Given the description of an element on the screen output the (x, y) to click on. 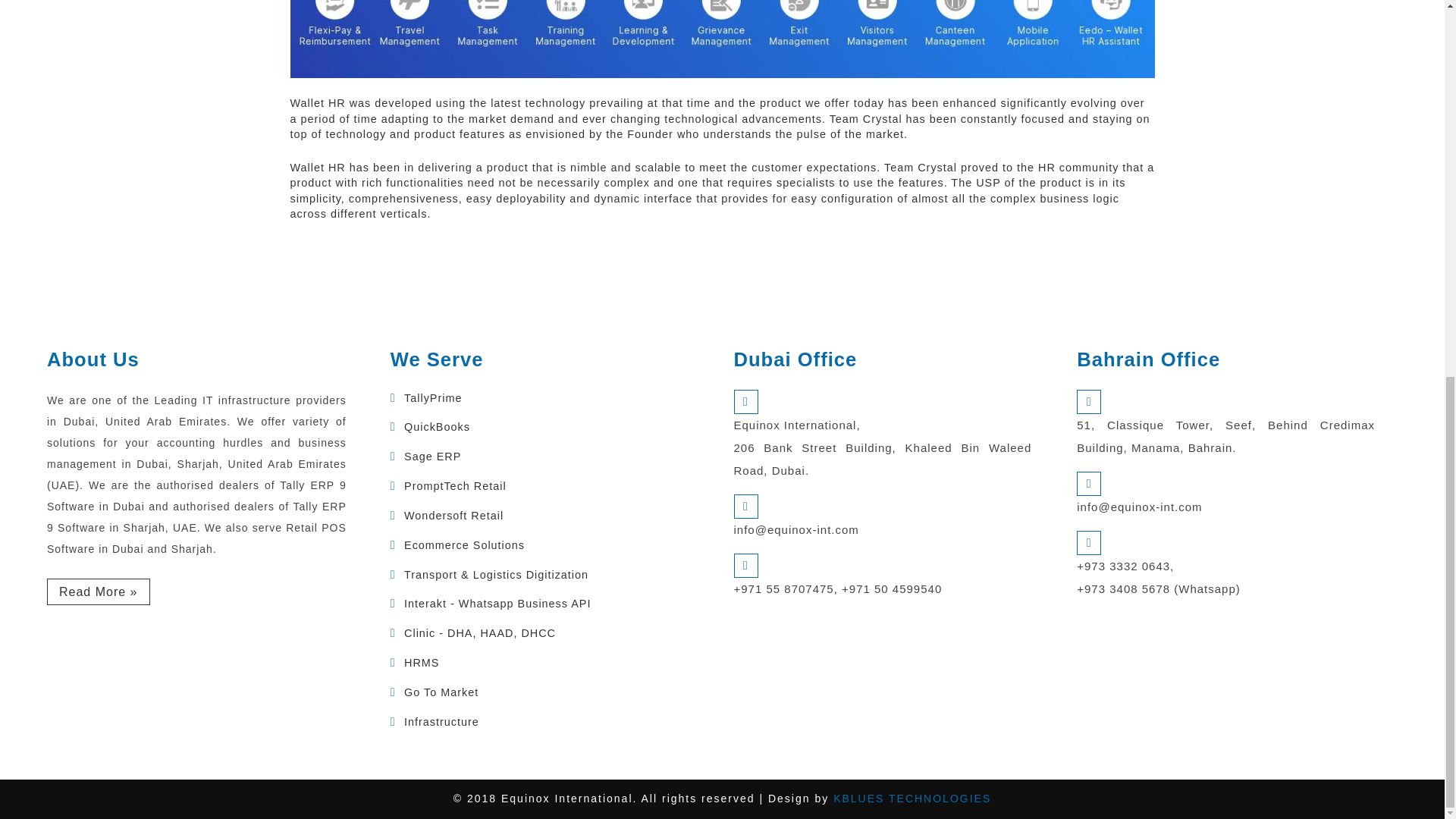
PromptTech Retail (455, 485)
TallyPrime (432, 398)
QuickBooks (437, 426)
Go To Market (441, 692)
Interakt - Whatsapp Business API (497, 603)
Sage ERP (432, 456)
Clinic - DHA, HAAD, DHCC (480, 633)
Wondersoft Retail (453, 515)
HRMS (421, 662)
Ecommerce Solutions (464, 544)
